Given the description of an element on the screen output the (x, y) to click on. 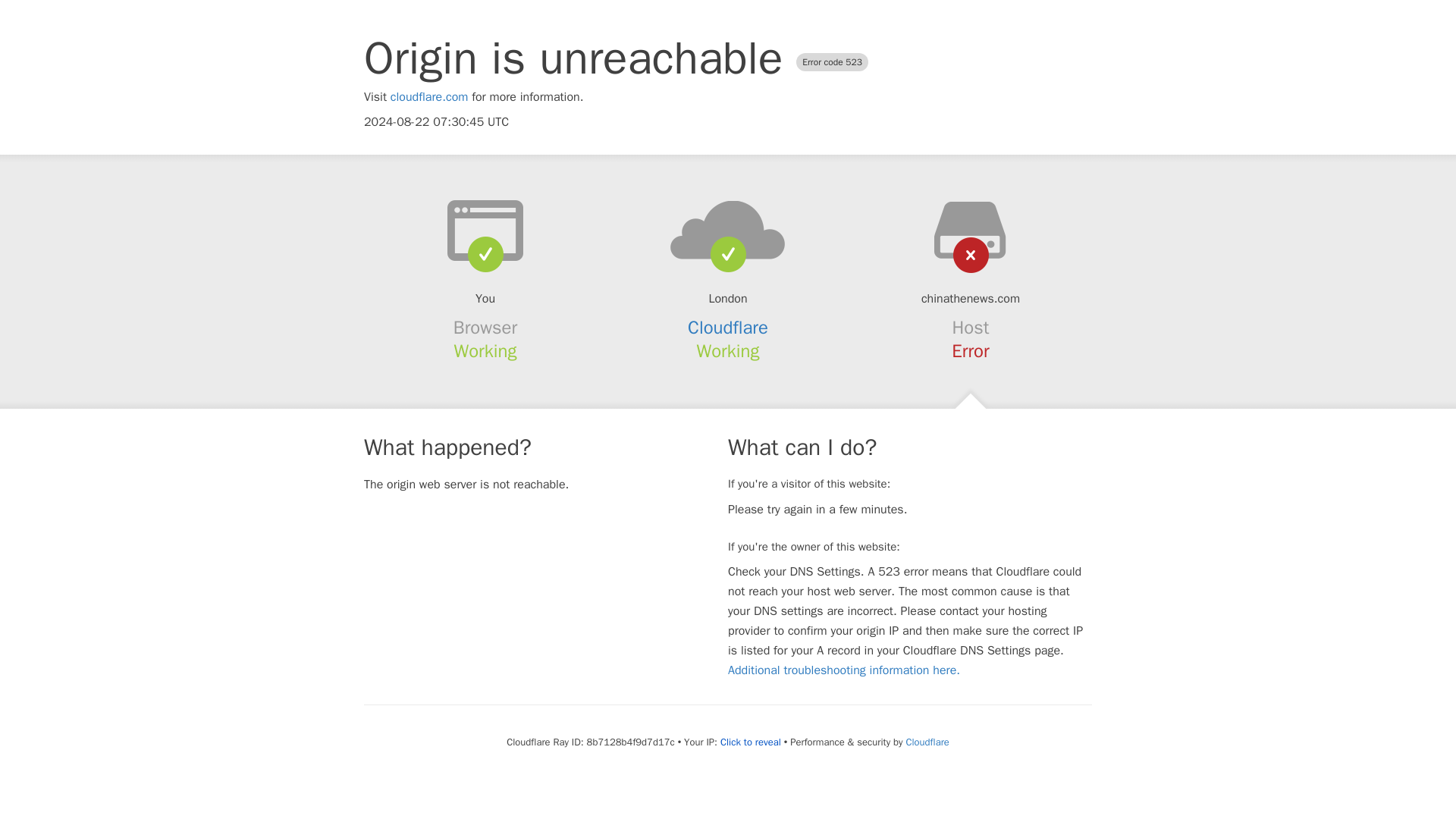
Cloudflare (927, 741)
Additional troubleshooting information here. (843, 670)
Cloudflare (727, 327)
Click to reveal (750, 742)
cloudflare.com (429, 96)
